Given the description of an element on the screen output the (x, y) to click on. 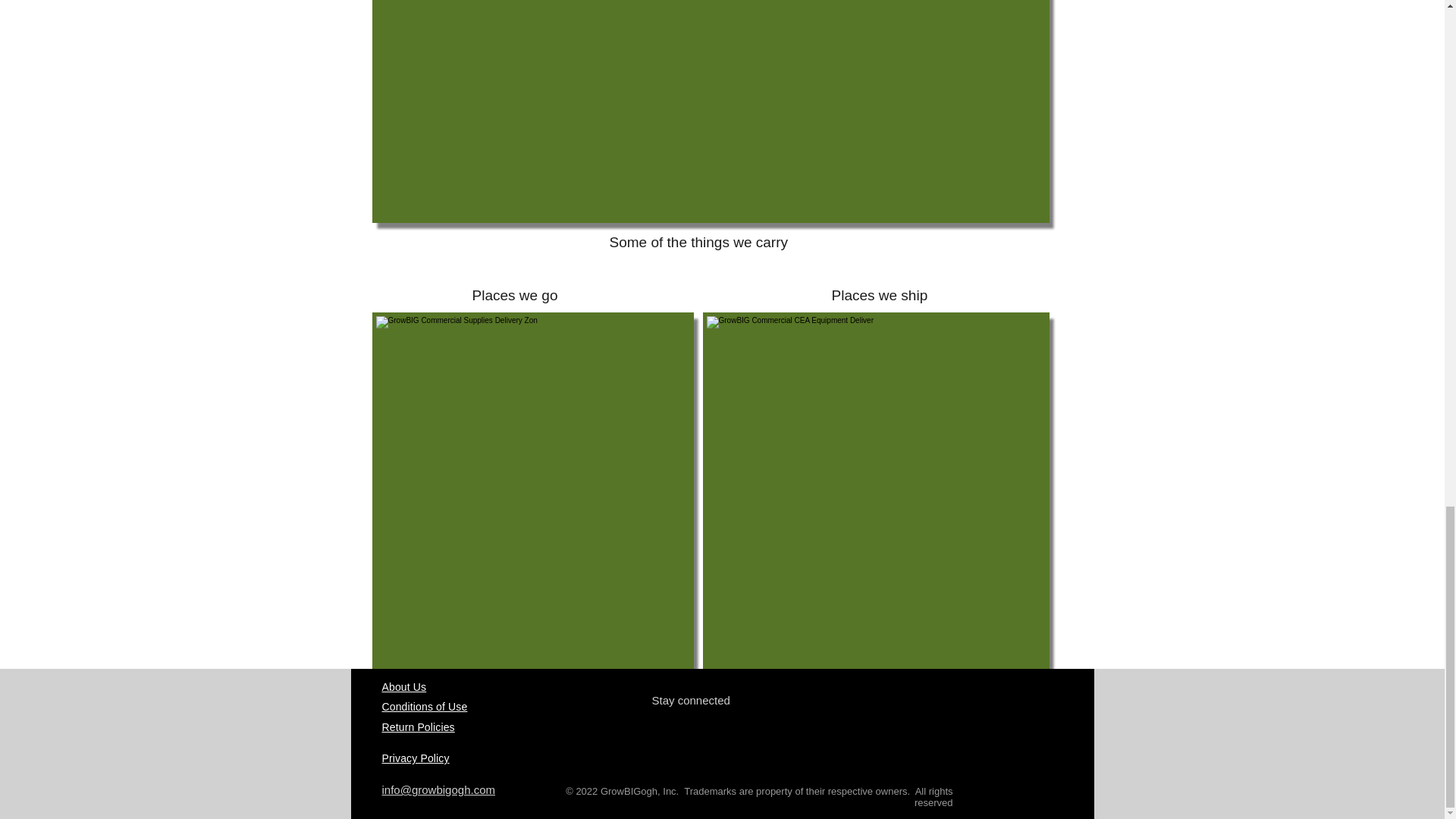
About Us (403, 686)
Return Policies (417, 727)
Privacy Policy (415, 758)
Conditions of Use (424, 706)
